Given the description of an element on the screen output the (x, y) to click on. 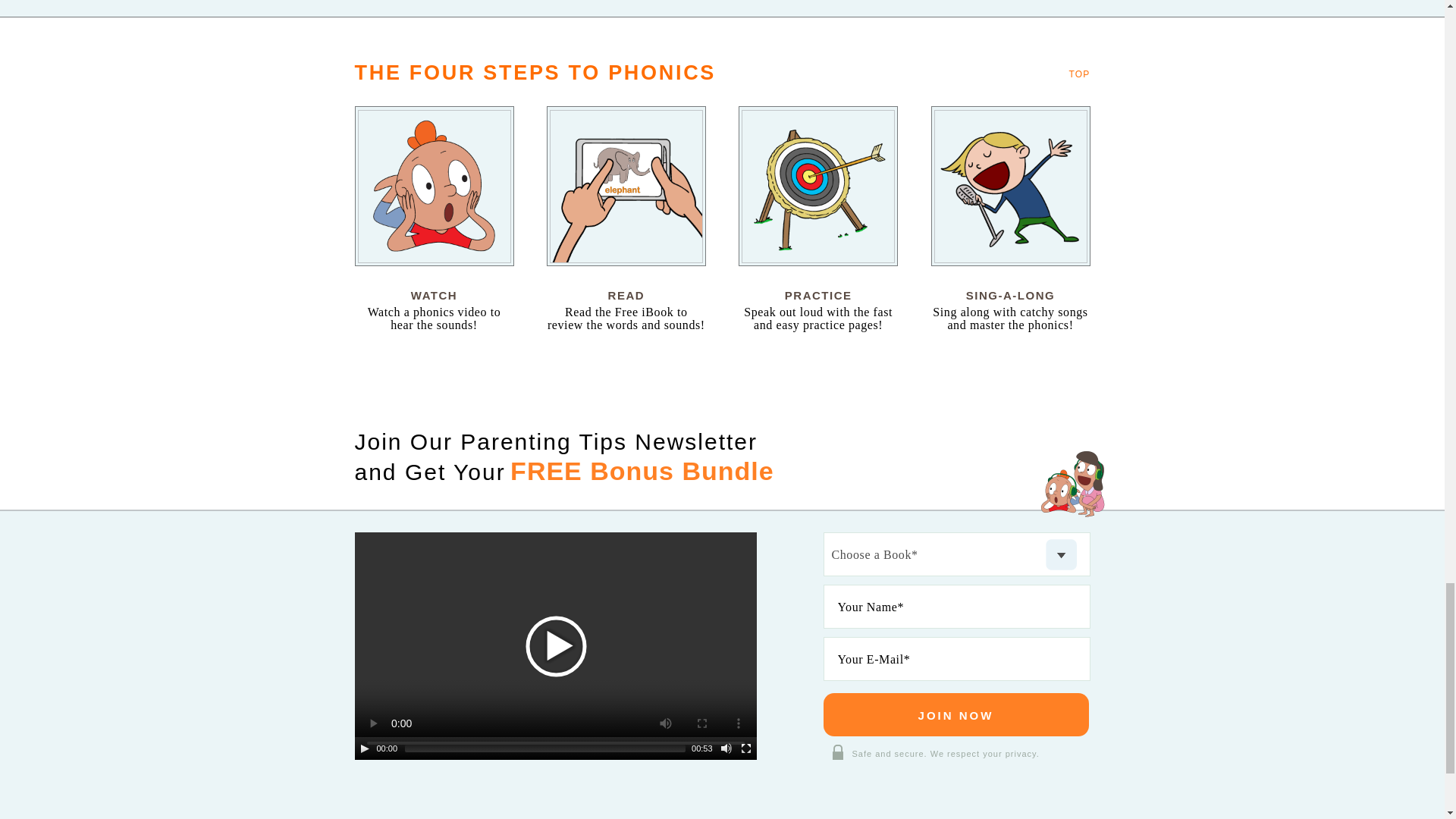
TOP (1078, 73)
Mute Toggle (726, 748)
JOIN NOW (956, 714)
Fullscreen (745, 748)
